Given the description of an element on the screen output the (x, y) to click on. 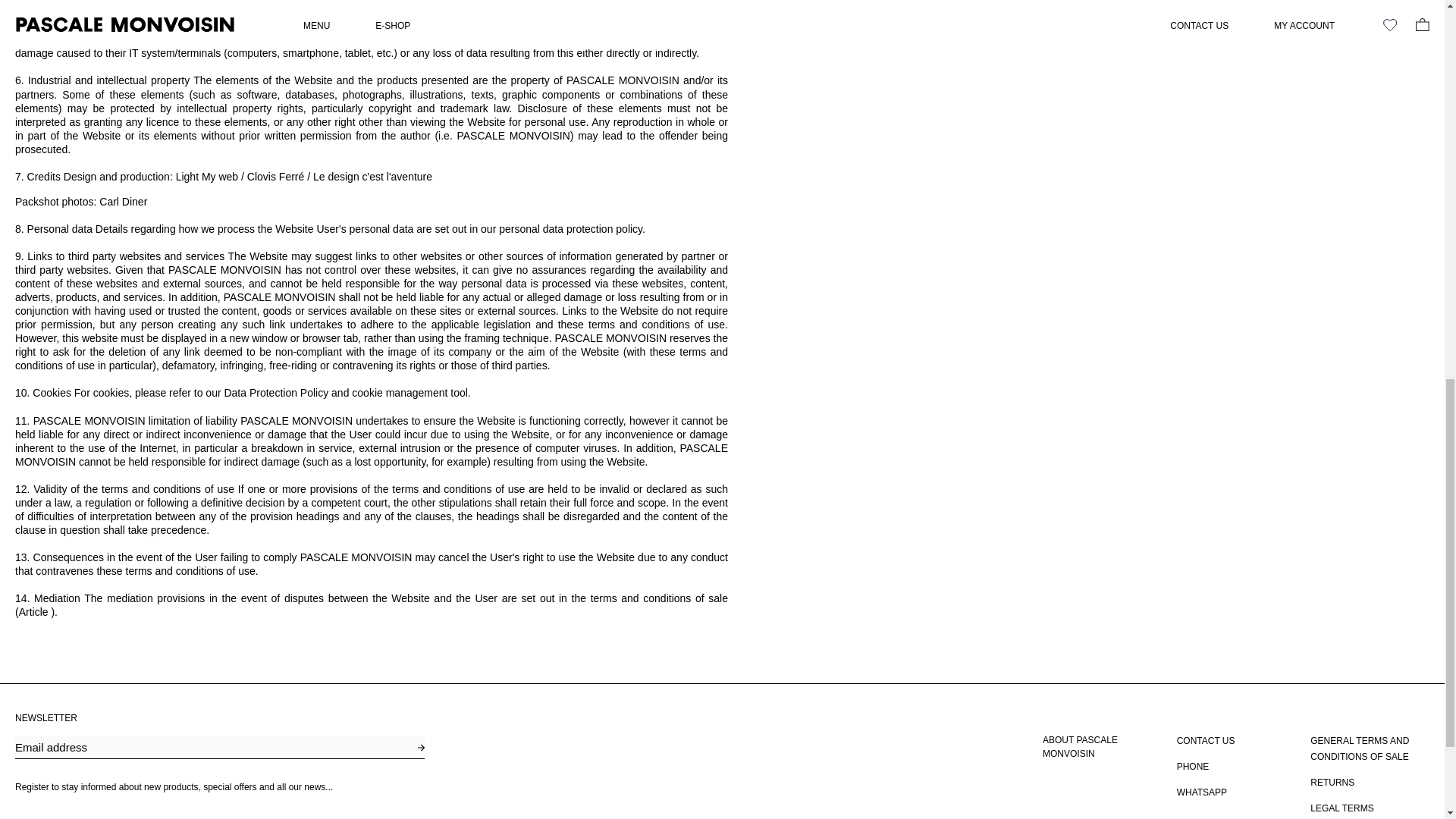
CONTACT US (1205, 741)
RETURNS (1332, 782)
GENERAL TERMS AND CONDITIONS OF SALE (1369, 748)
WHATSAPP (1201, 792)
PHONE (1192, 766)
ABOUT PASCALE MONVOISIN (1101, 746)
